Given the description of an element on the screen output the (x, y) to click on. 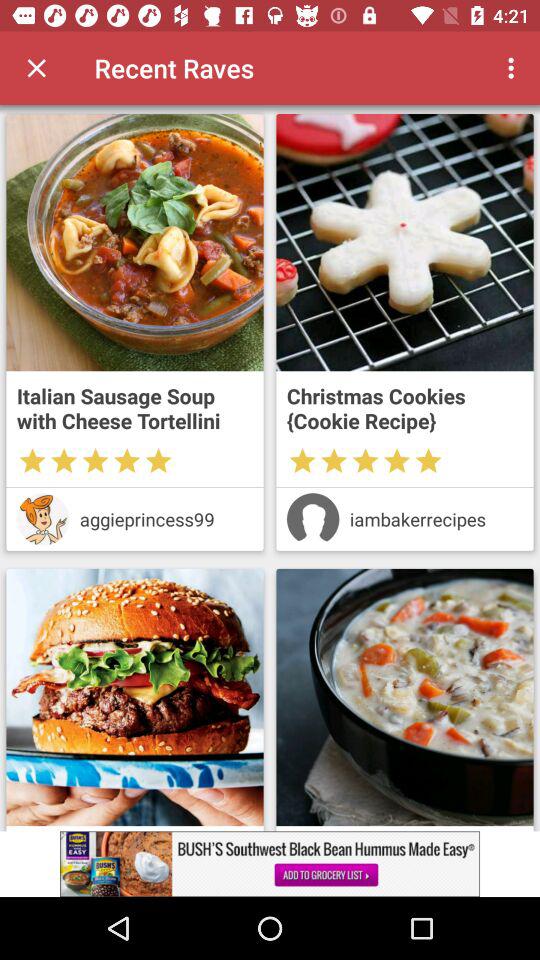
details about advertisement (270, 864)
